Given the description of an element on the screen output the (x, y) to click on. 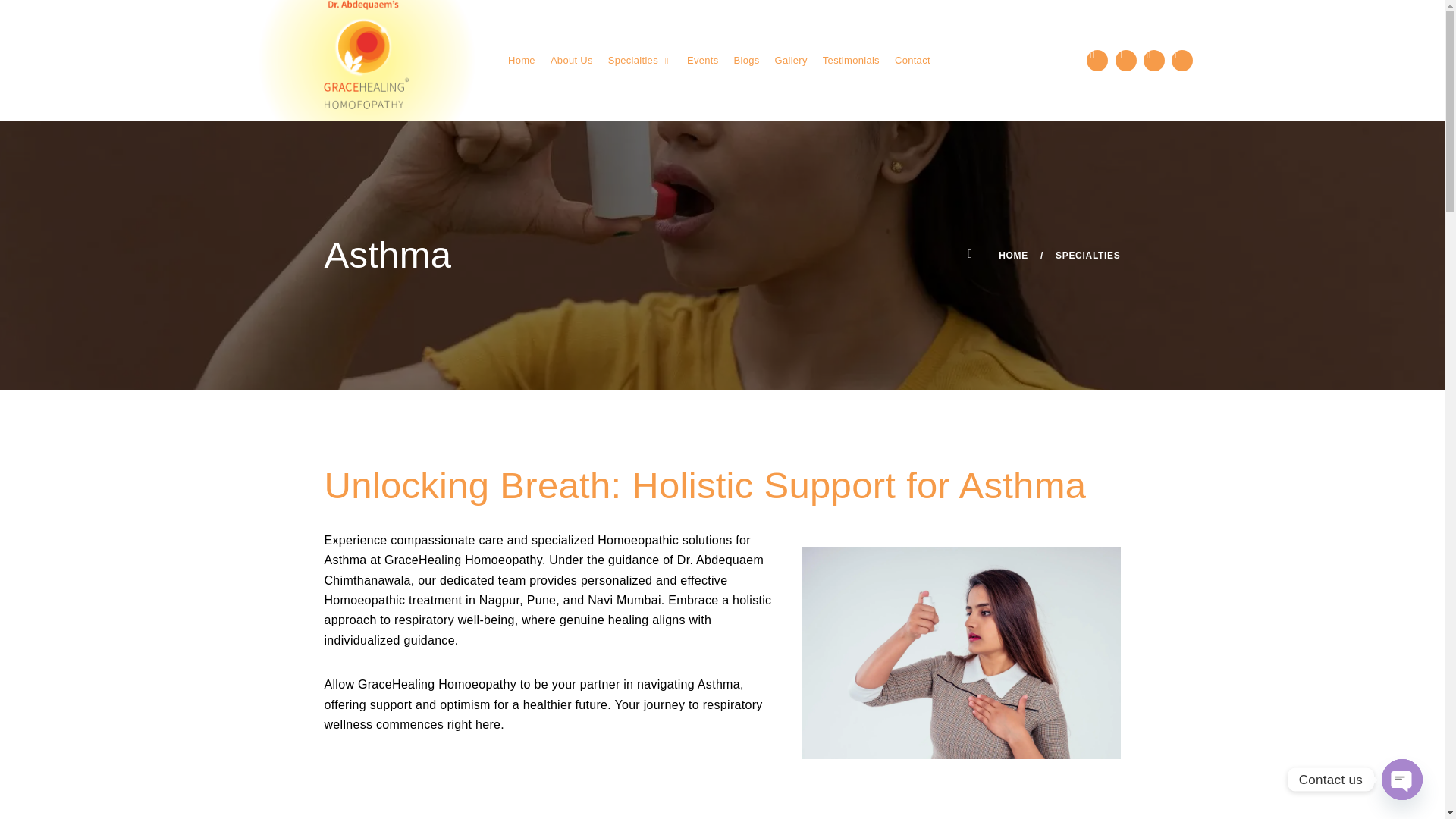
About Us (571, 60)
Events (703, 60)
Testimonials (850, 60)
Contact (912, 60)
HOME (997, 255)
Blogs (745, 60)
Home (521, 60)
Gallery (791, 60)
